Given the description of an element on the screen output the (x, y) to click on. 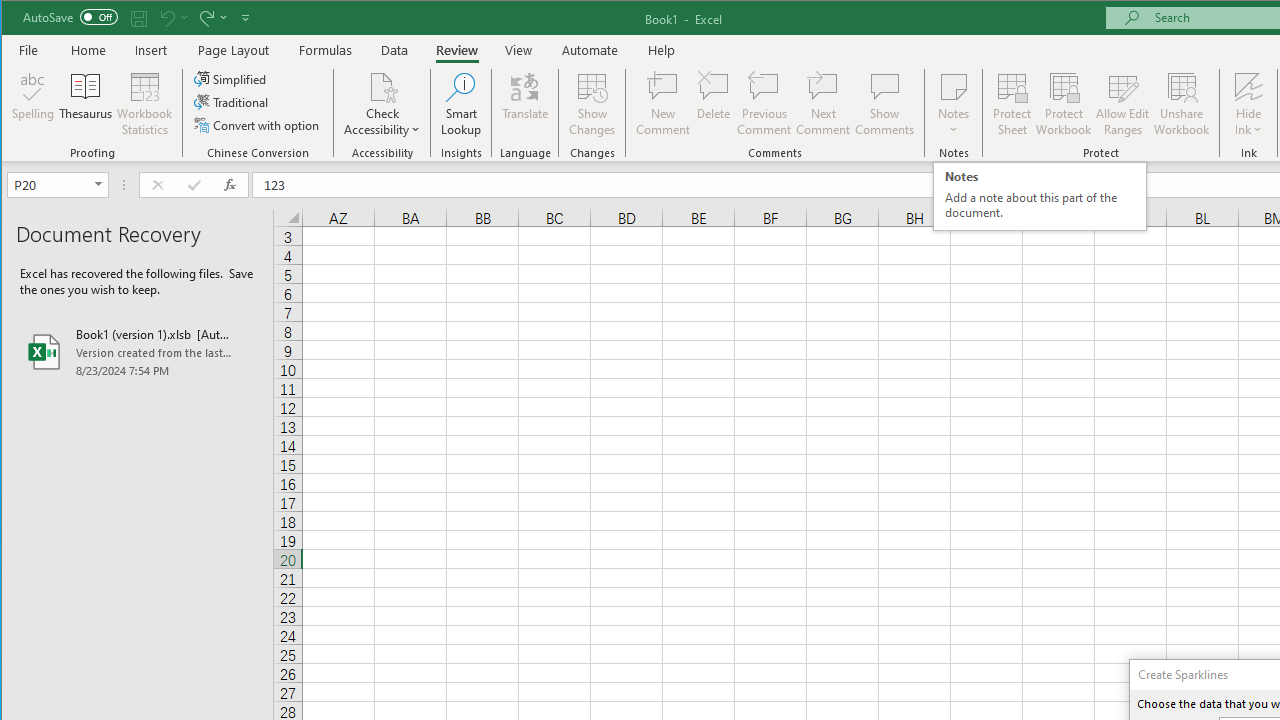
Redo (211, 17)
Spelling... (33, 104)
Book1 (version 1).xlsb  [AutoRecovered] (137, 352)
System (19, 18)
File Tab (29, 49)
Workbook Statistics (145, 104)
System (19, 18)
Review (456, 50)
Check Accessibility (381, 104)
Customize Quick Access Toolbar (245, 17)
Next Comment (822, 104)
Unshare Workbook (1182, 104)
Redo (205, 17)
Help (661, 50)
Undo (166, 17)
